Given the description of an element on the screen output the (x, y) to click on. 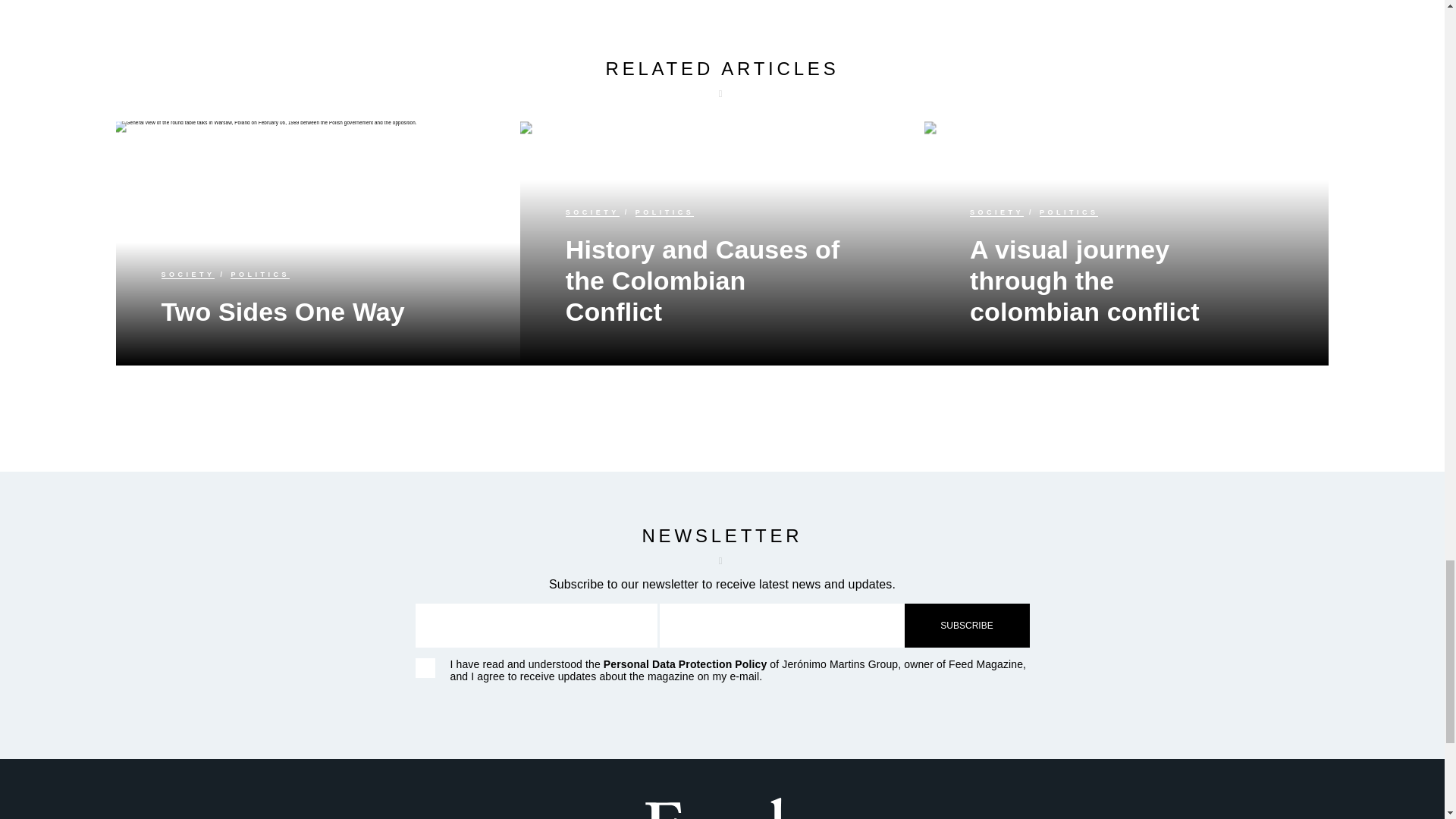
1 (424, 668)
Subscribe (966, 625)
